Given the description of an element on the screen output the (x, y) to click on. 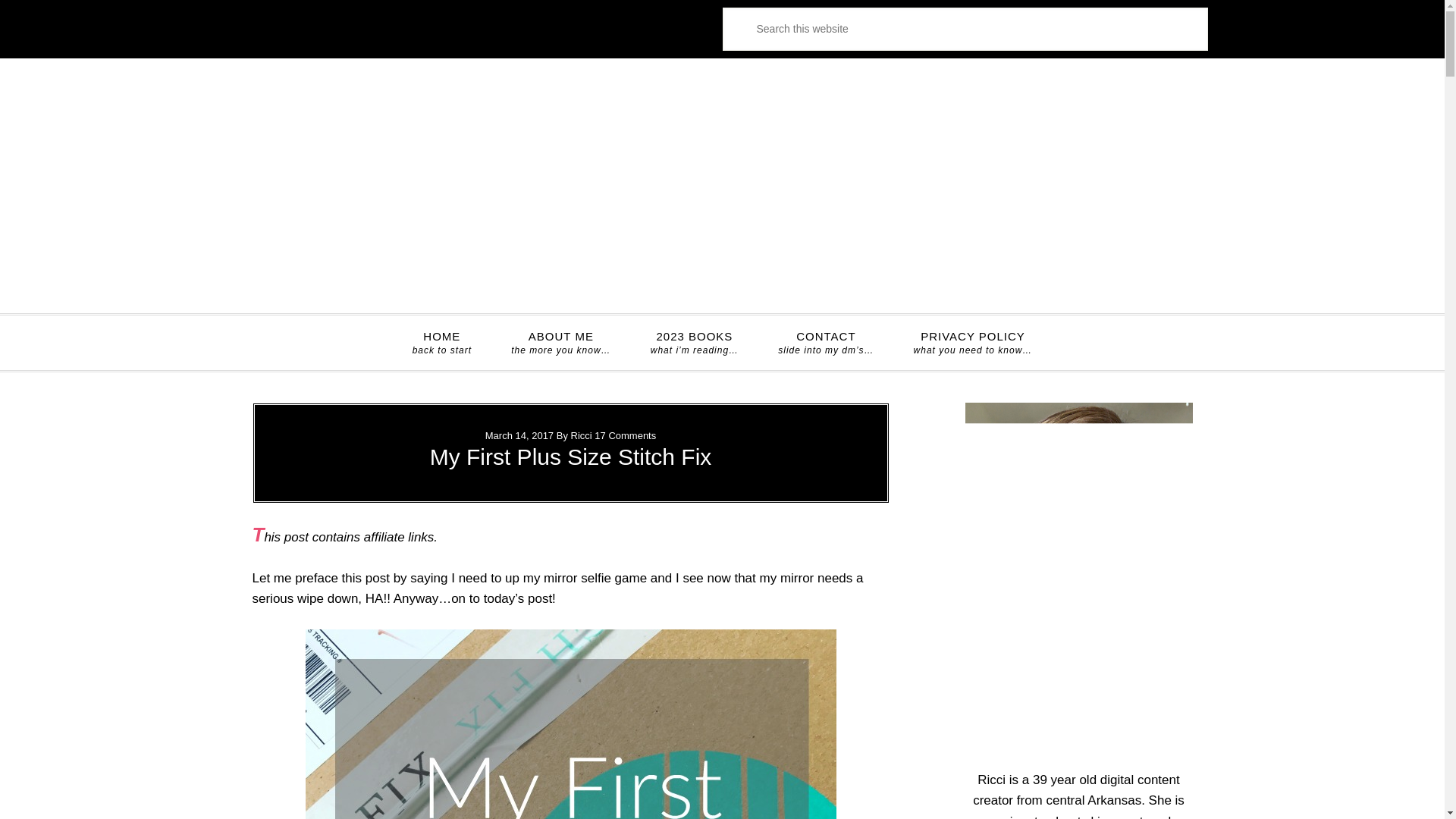
17 Comments (625, 435)
Ricci (581, 435)
Skip to main content (441, 342)
